Given the description of an element on the screen output the (x, y) to click on. 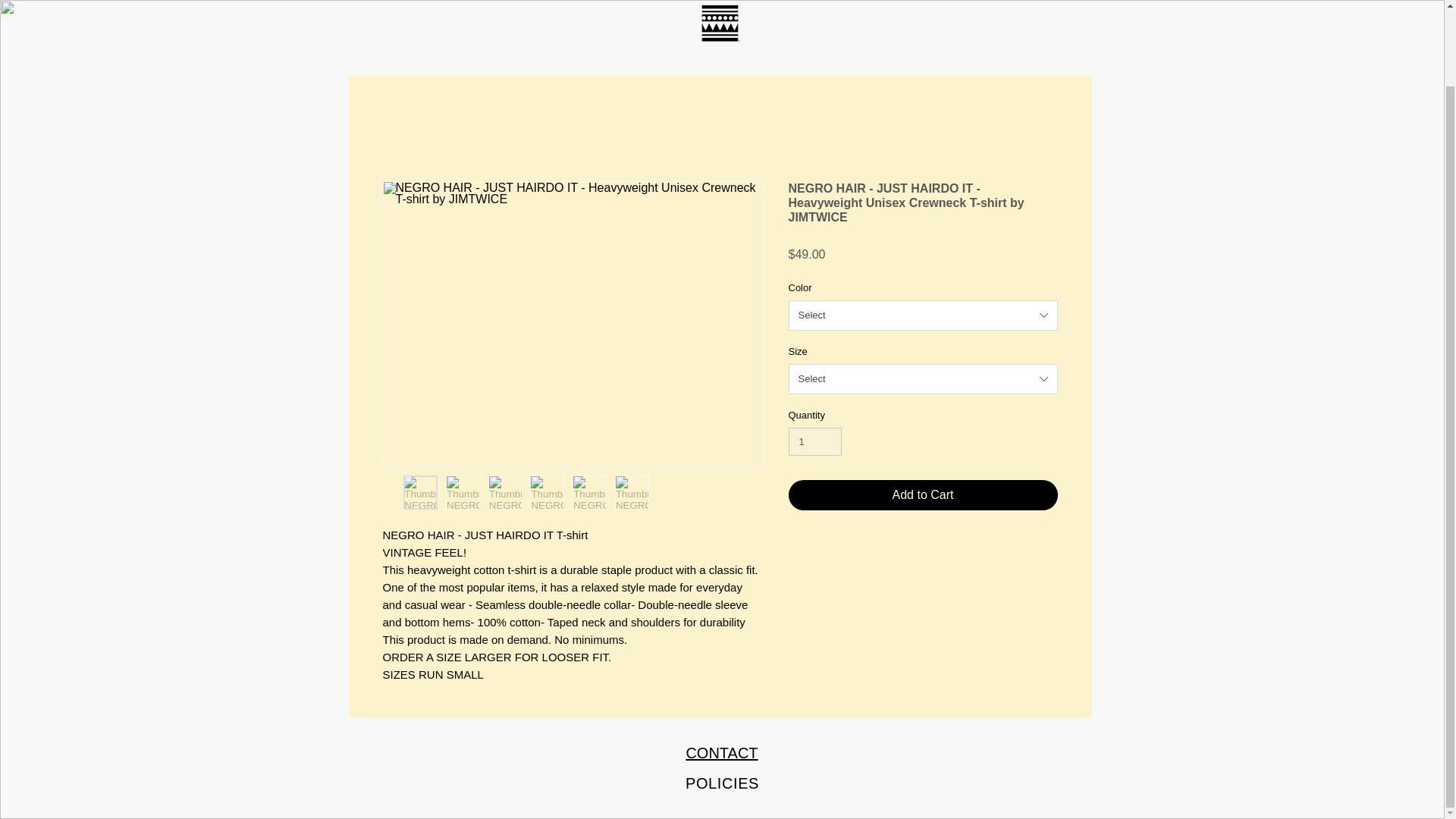
CONTACT (721, 752)
1 (816, 441)
Add to Cart (923, 494)
Select (923, 378)
POLICIES (721, 782)
Select (923, 315)
